Given the description of an element on the screen output the (x, y) to click on. 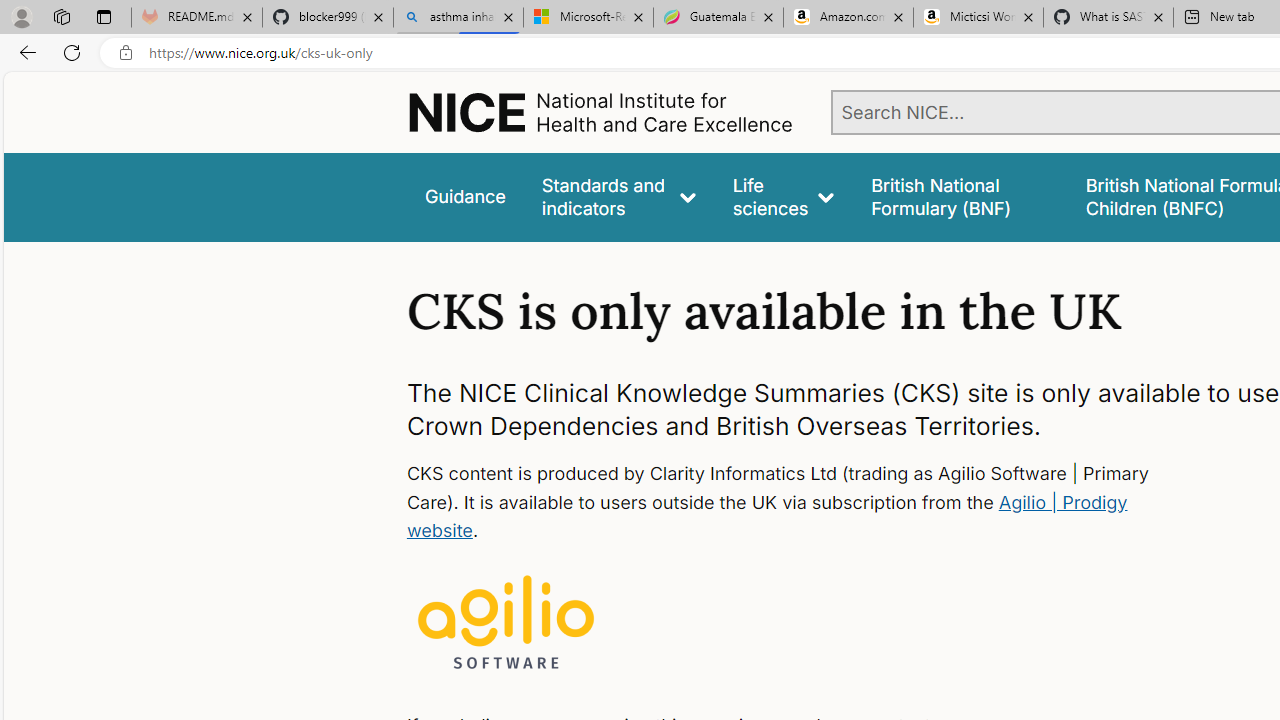
Agilio | Prodigy website (766, 516)
Life sciences (783, 196)
Guidance (464, 196)
Life sciences (783, 196)
